Given the description of an element on the screen output the (x, y) to click on. 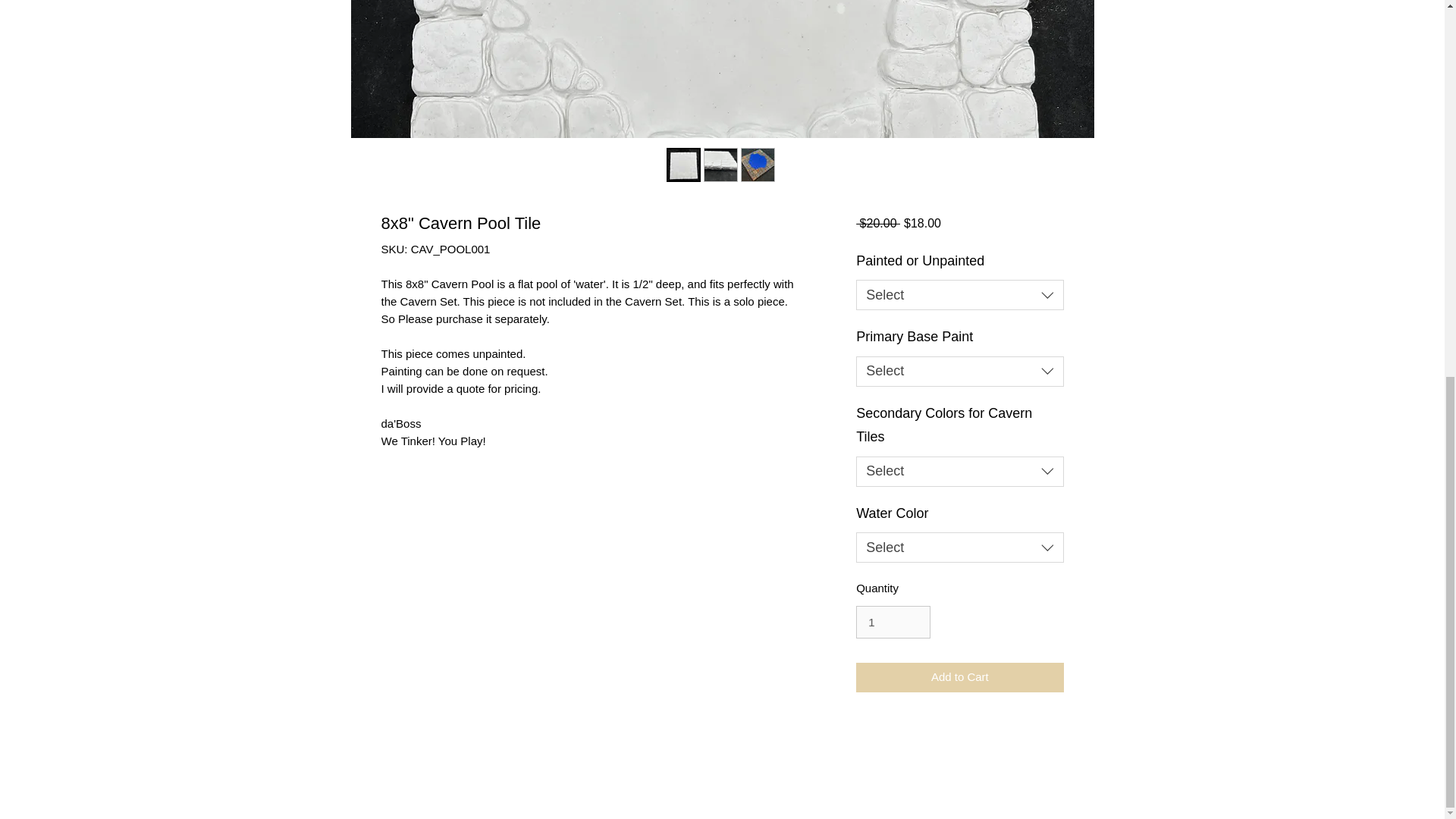
Select (959, 295)
Add to Cart (959, 677)
Select (959, 471)
Select (959, 547)
1 (893, 622)
Select (959, 371)
